Given the description of an element on the screen output the (x, y) to click on. 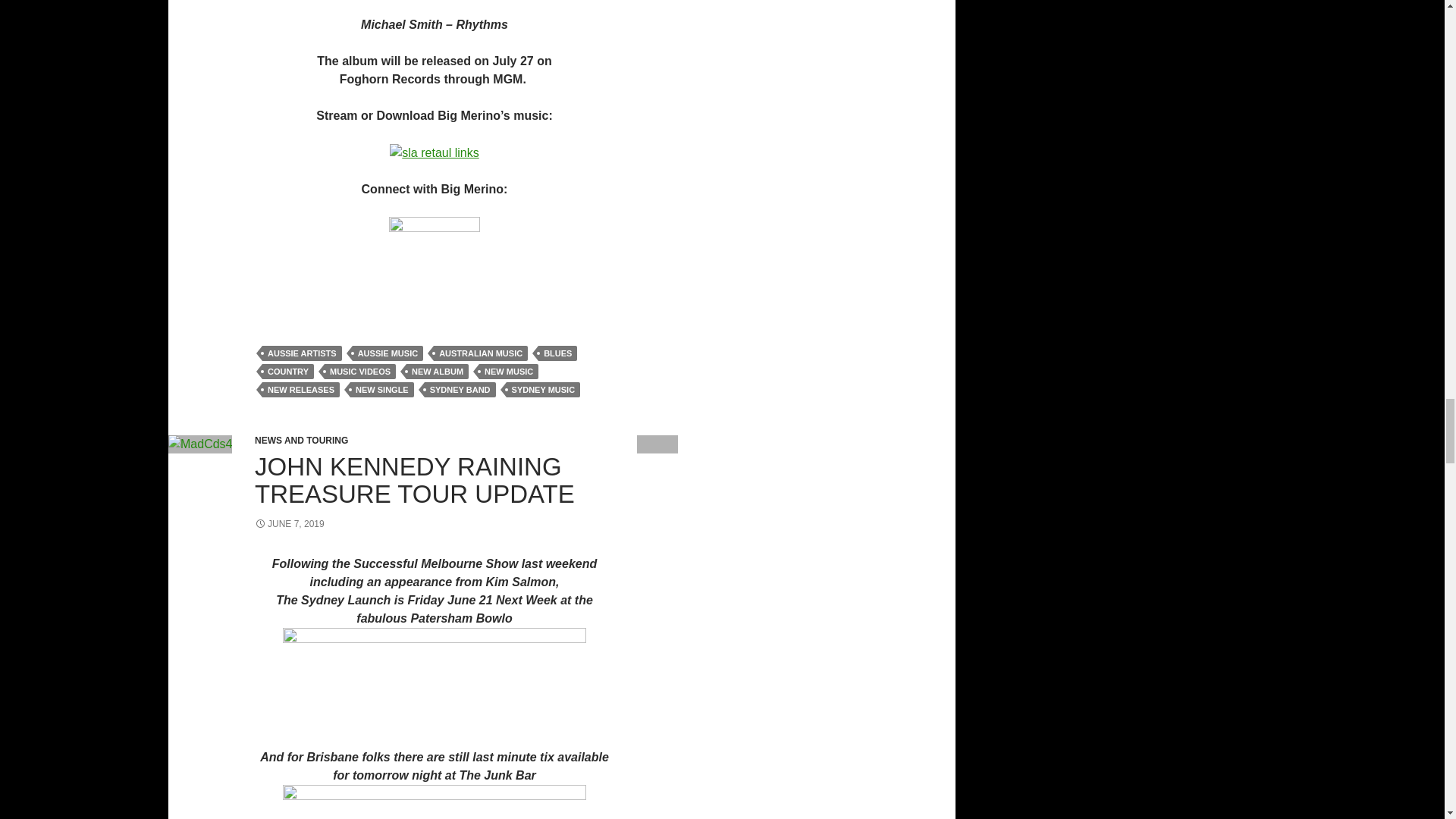
retail (434, 151)
